Given the description of an element on the screen output the (x, y) to click on. 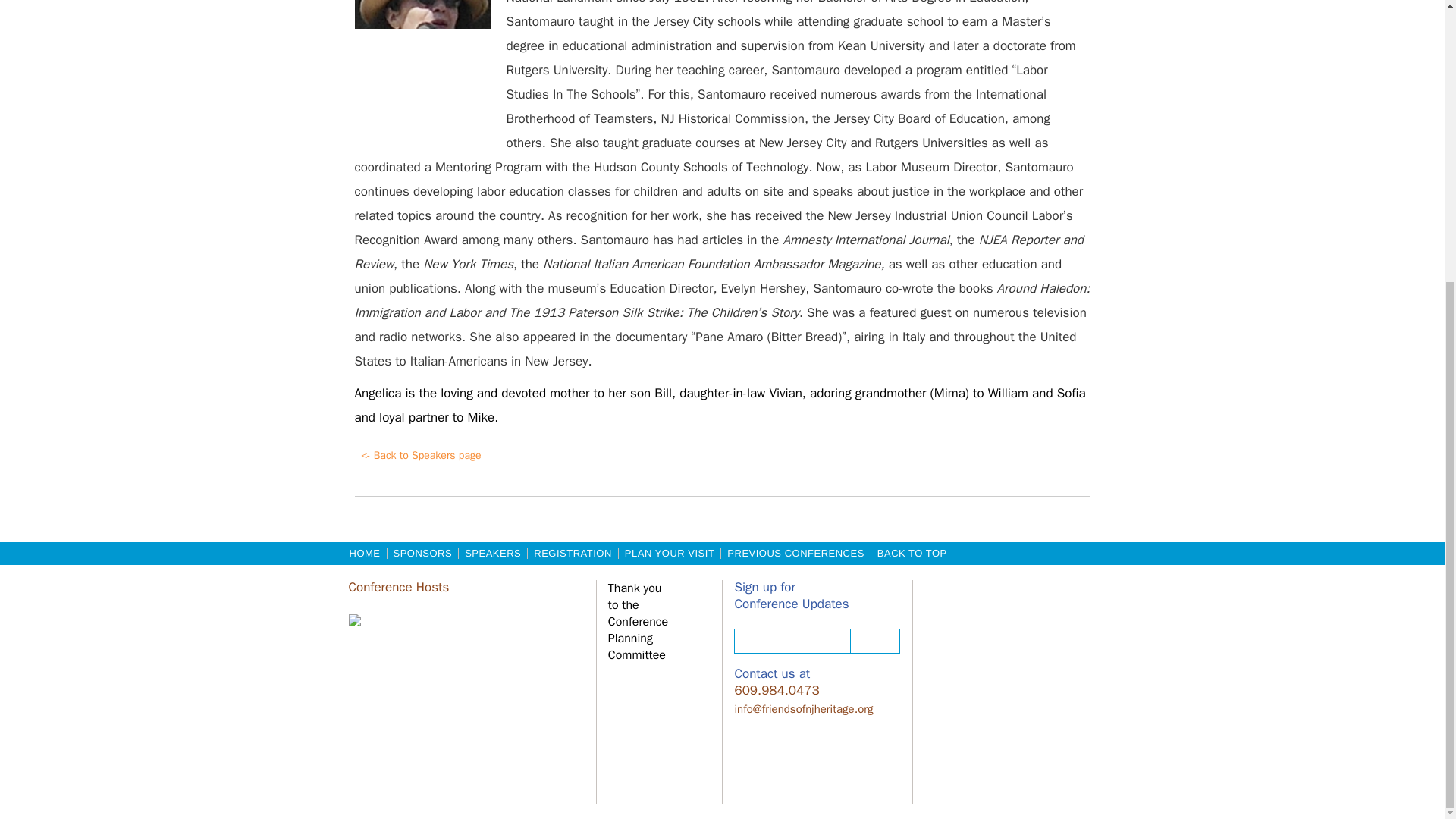
HOME (363, 552)
Angelica Santomauro Web (423, 64)
609.984.0473 (775, 691)
PREVIOUS CONFERENCES (794, 552)
BACK TO TOP (911, 552)
Back to Speakers page (421, 457)
PLAN YOUR VISIT (669, 552)
BACK TO TOP (911, 552)
SPEAKERS (492, 552)
SPONSORS (422, 552)
